Given the description of an element on the screen output the (x, y) to click on. 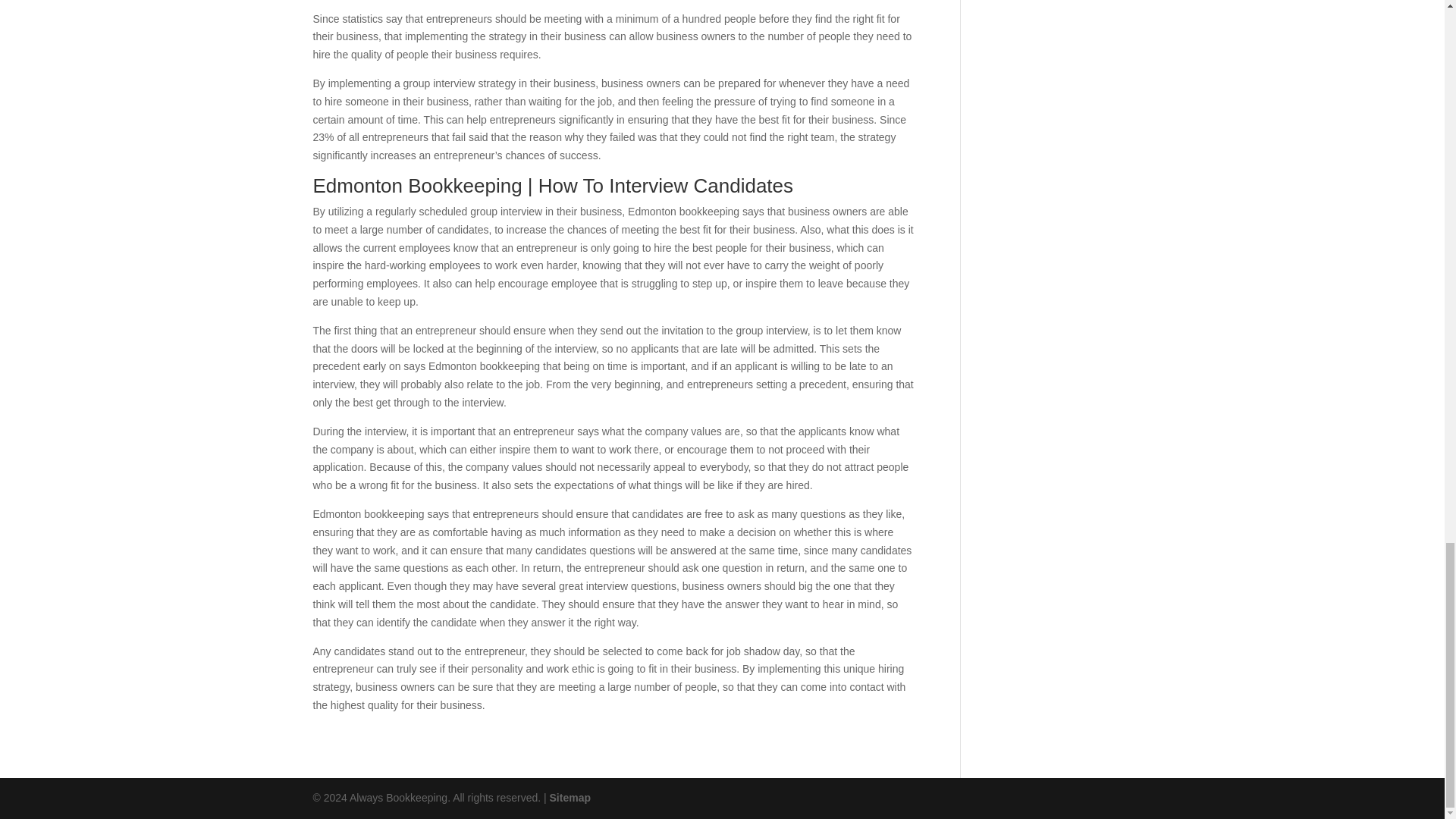
Sitemap (570, 797)
